Given the description of an element on the screen output the (x, y) to click on. 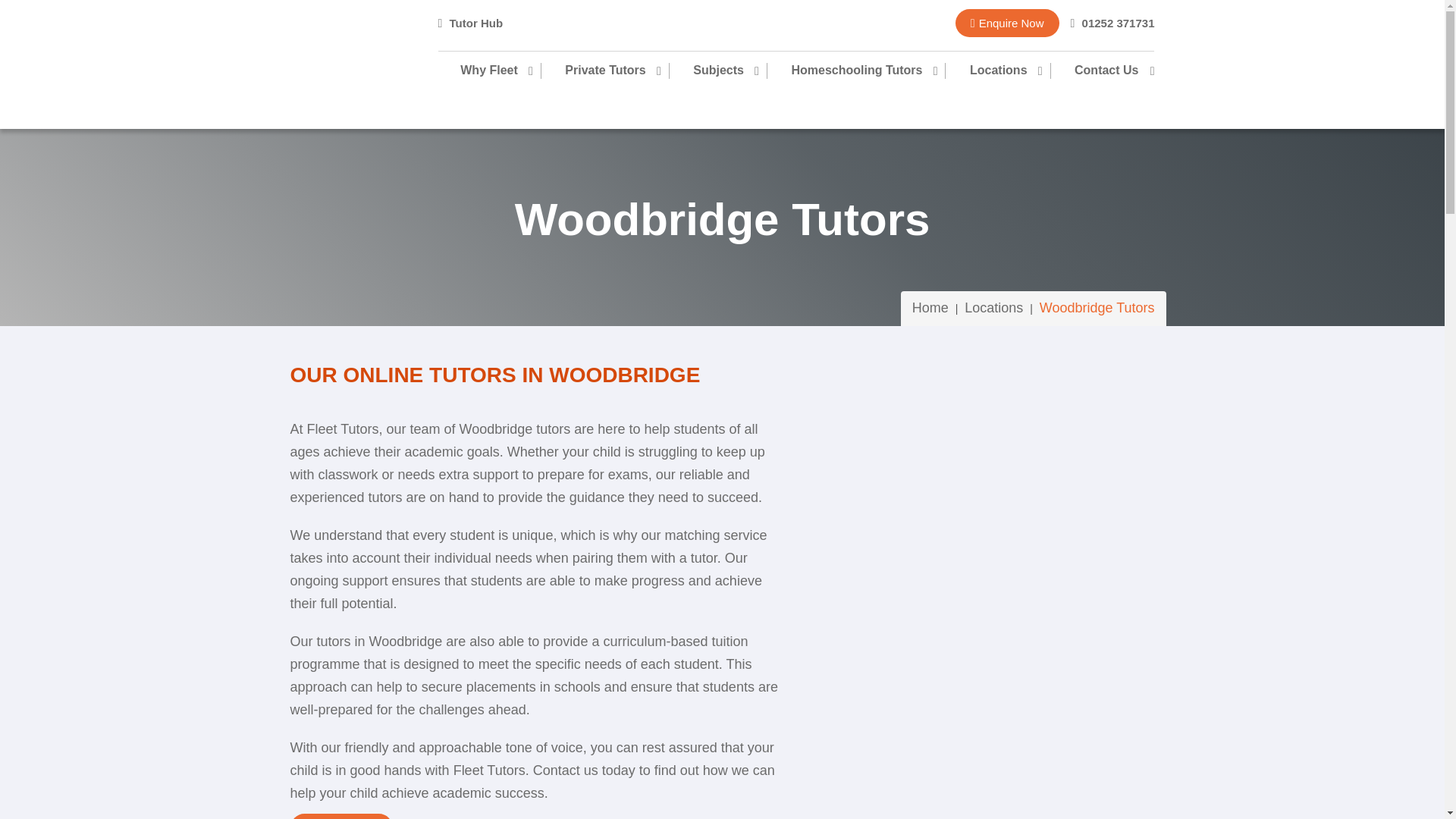
Subjects (717, 70)
Why Fleet (500, 70)
Tutor Hub (470, 22)
Private Tutors (604, 70)
01252 371731 (1112, 22)
Go to Locations. (993, 307)
Enquire Now (1007, 22)
Go to Fleet Tutors. (930, 307)
